Given the description of an element on the screen output the (x, y) to click on. 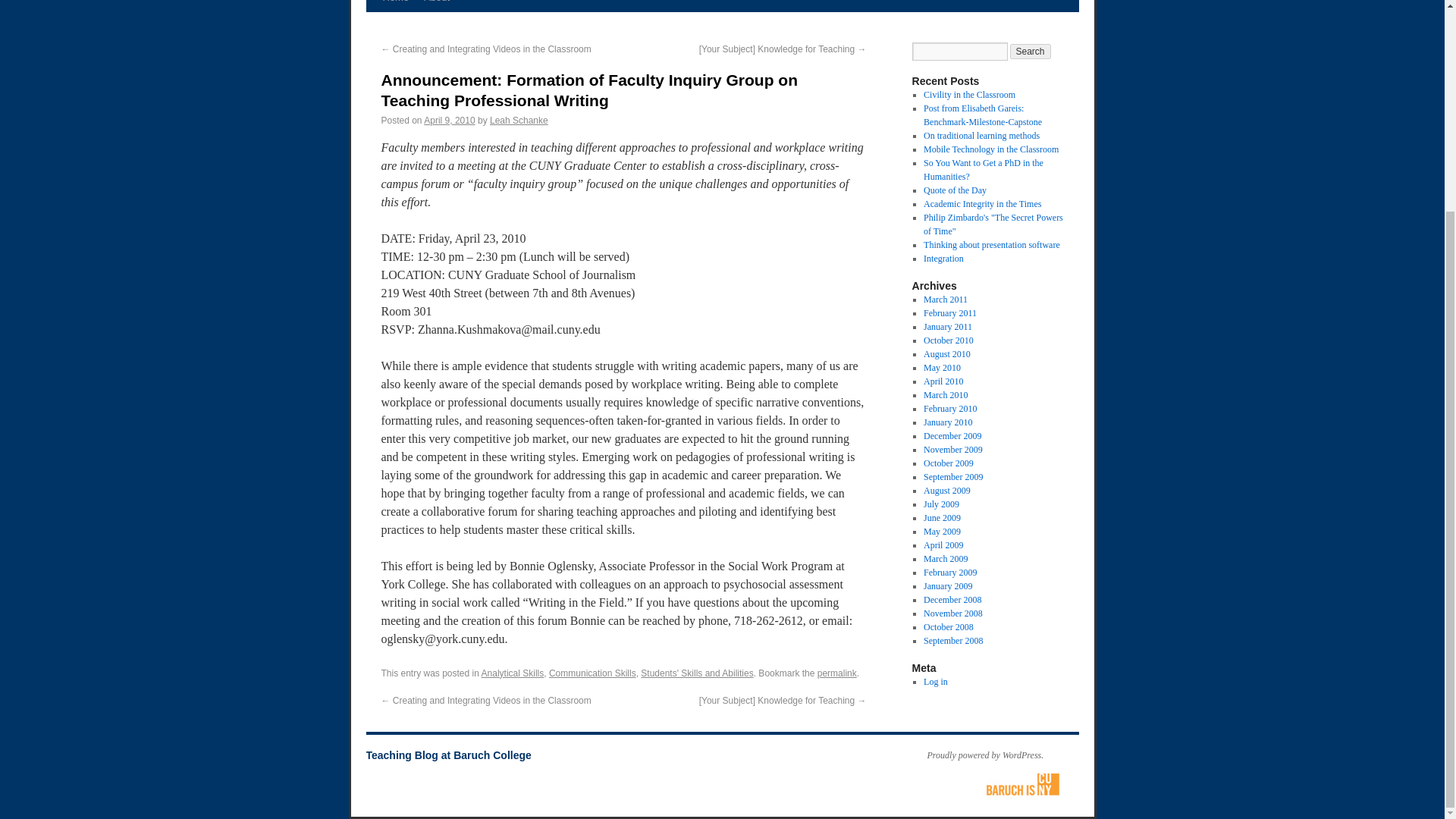
Thinking about presentation software (991, 244)
March 2011 (945, 299)
Post from Elisabeth Gareis: Benchmark-Milestone-Capstone (982, 115)
April 9, 2010 (448, 120)
So You Want to Get a PhD in the Humanities? (983, 169)
permalink (836, 673)
October 2009 (948, 462)
Search (1030, 51)
Civility in the Classroom (968, 94)
Leah Schanke (518, 120)
